Given the description of an element on the screen output the (x, y) to click on. 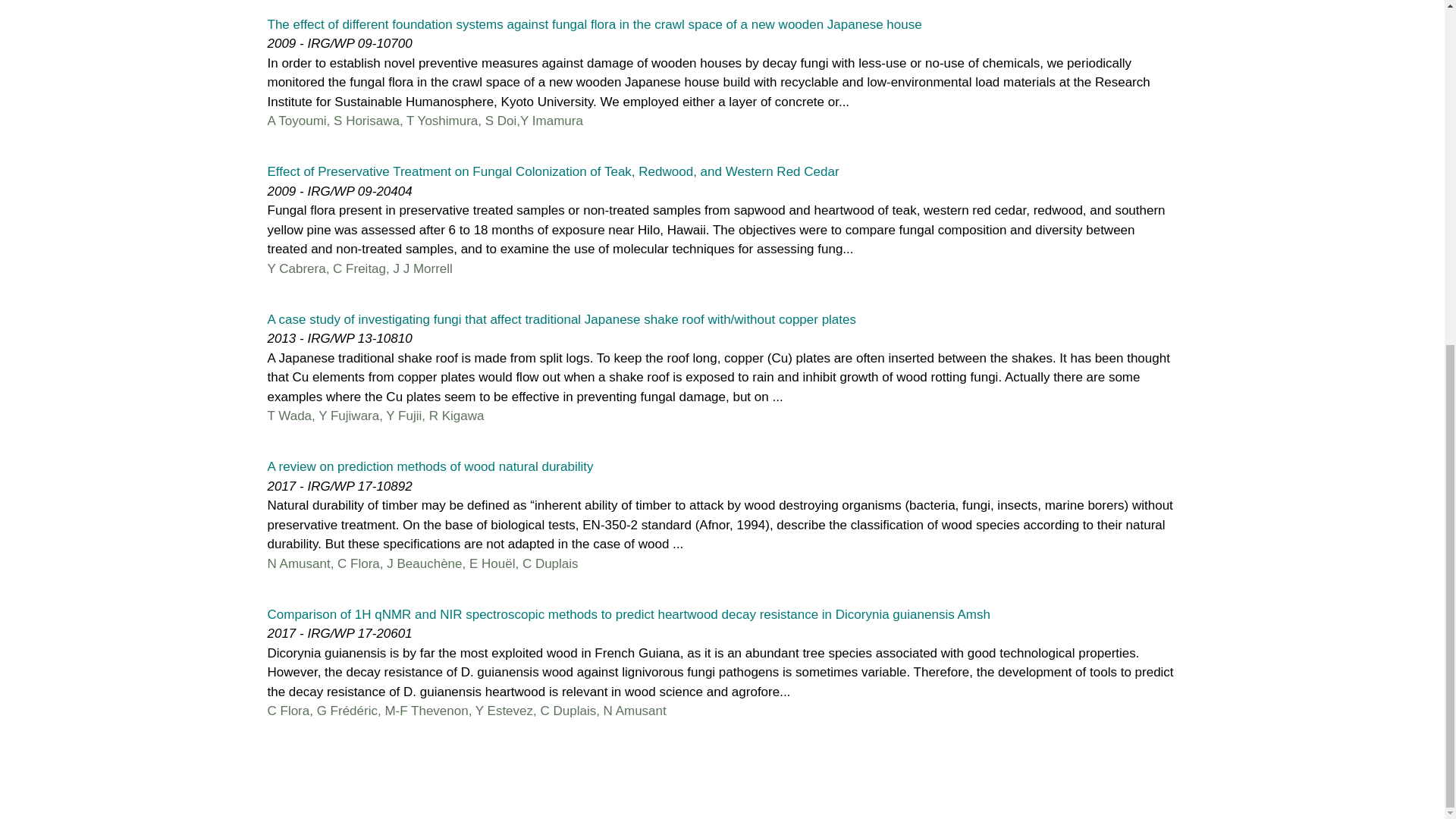
Click for more information about document. (552, 171)
Click for more information about document. (429, 466)
Click for more information about document. (561, 319)
Click for more information about document. (593, 23)
Click for more information about document. (628, 613)
A review on prediction methods of wood natural durability (429, 466)
